Given the description of an element on the screen output the (x, y) to click on. 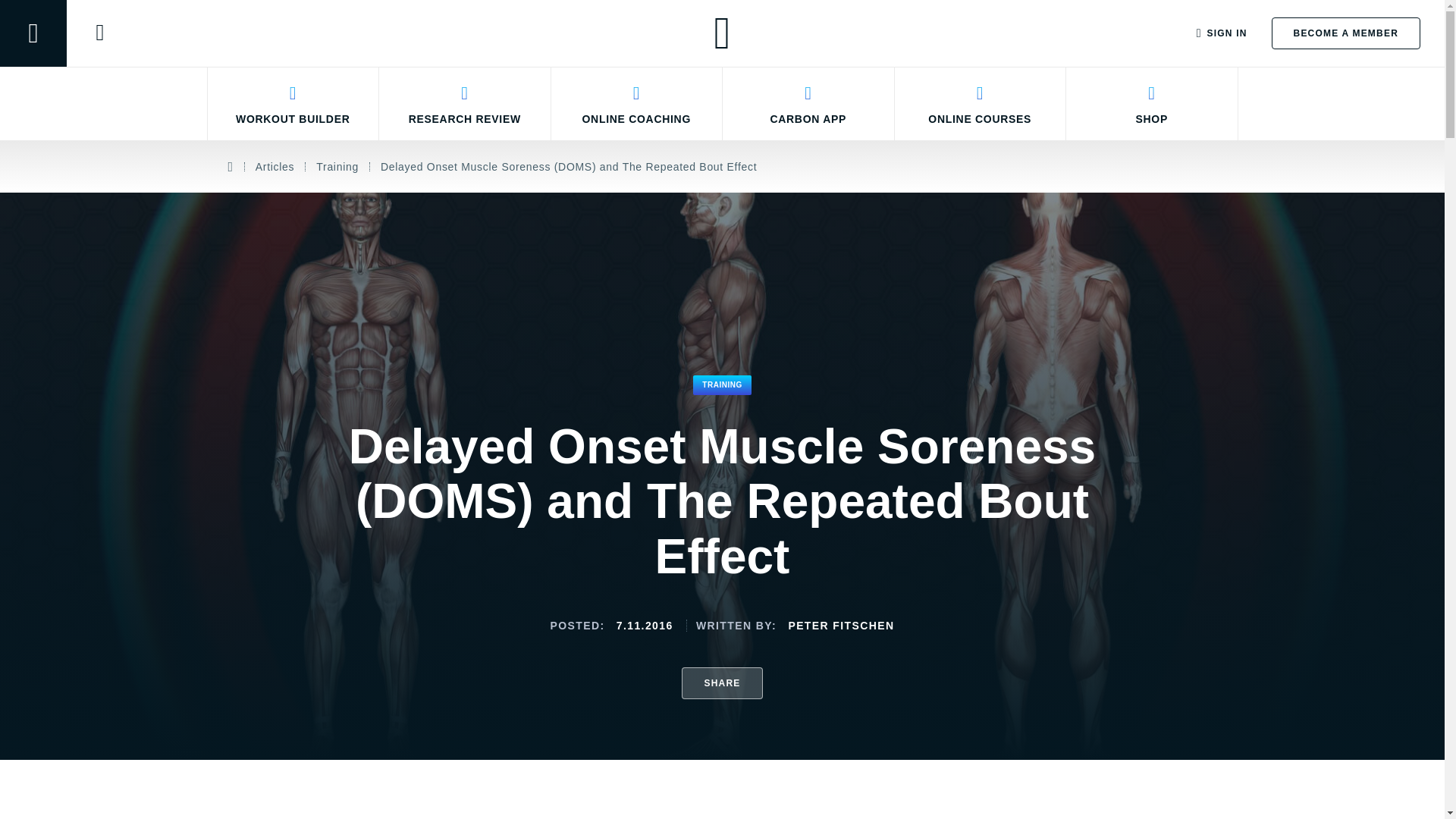
BECOME A MEMBER (1346, 33)
Research Review (464, 103)
WORKOUT BUILDER (292, 103)
SHOP (1152, 103)
Online Courses (981, 103)
Shop (1152, 103)
SHARE (721, 683)
ONLINE COACHING (636, 103)
SIGN IN (1221, 33)
